Given the description of an element on the screen output the (x, y) to click on. 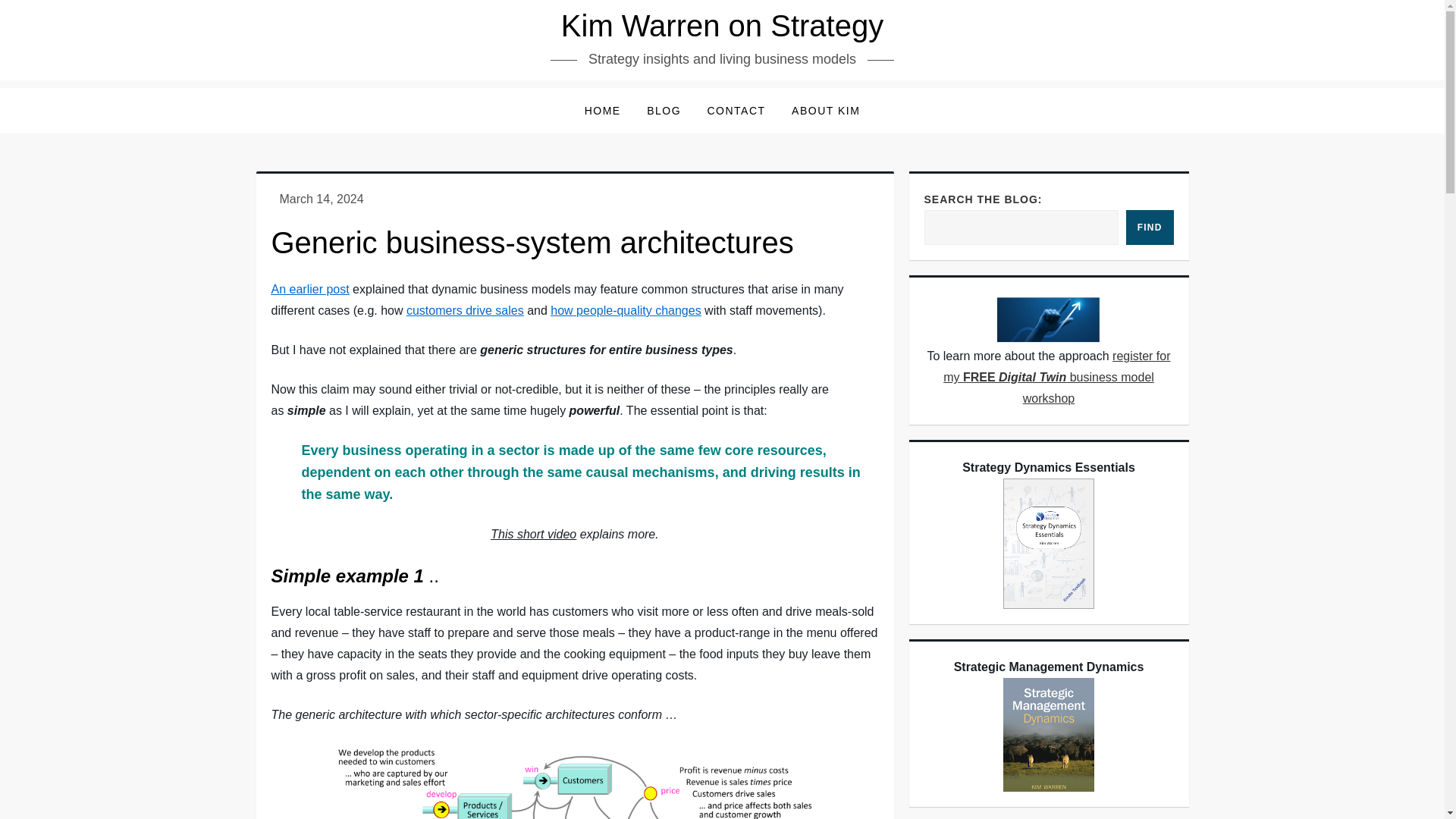
Talking about strategy.. (663, 110)
BLOG (663, 110)
March 14, 2024 (320, 198)
customers drive sales (465, 309)
HOME (602, 110)
CONTACT (735, 110)
An earlier post (309, 288)
FIND (1149, 226)
ABOUT KIM (825, 110)
how people-quality changes (625, 309)
register for my FREE Digital Twin business model workshop (1056, 376)
About Kim Warren (825, 110)
Kim Warren on Strategy (721, 25)
This short video (533, 533)
